Given the description of an element on the screen output the (x, y) to click on. 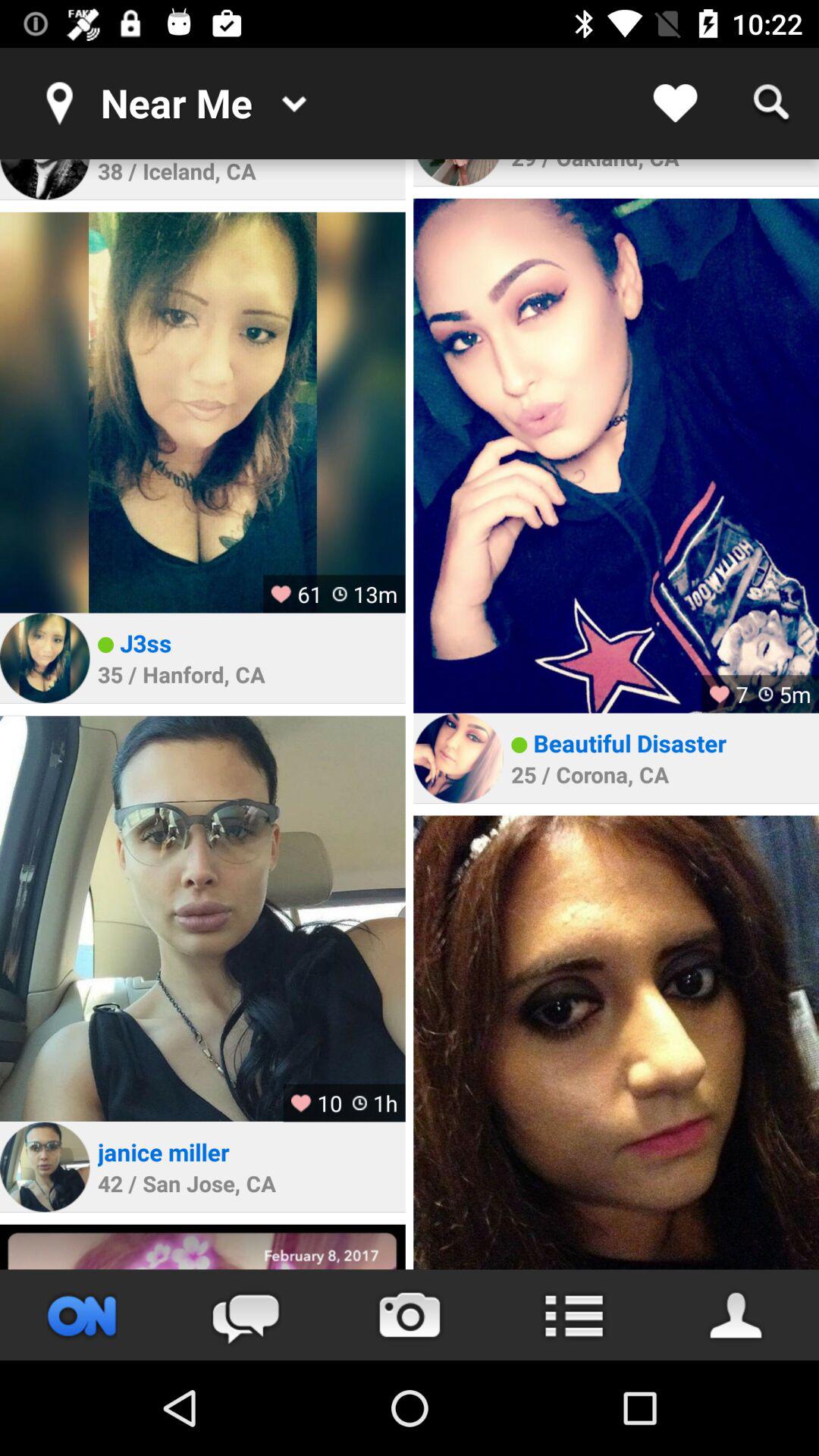
select profile (44, 657)
